Given the description of an element on the screen output the (x, y) to click on. 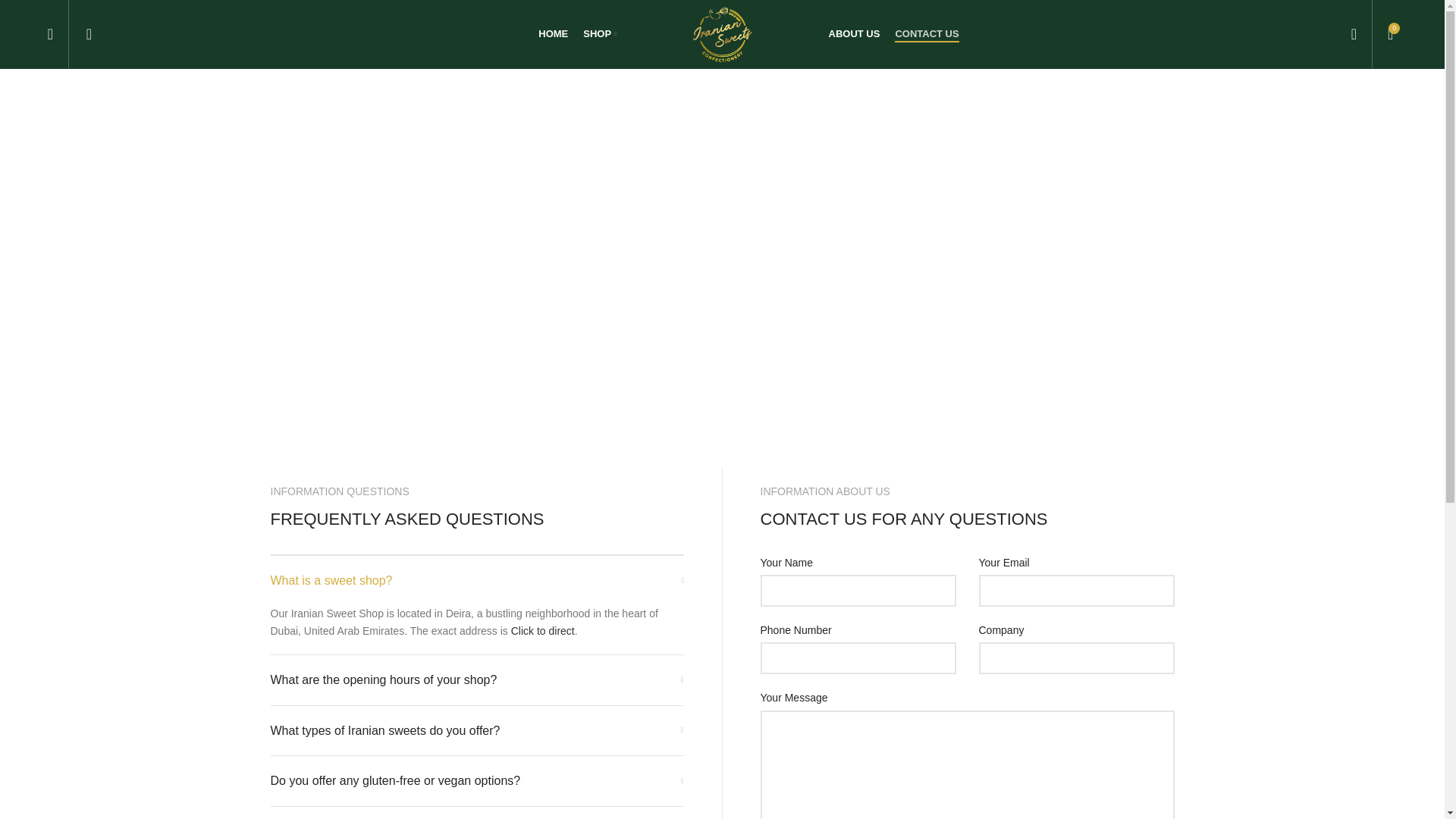
SHOP (599, 33)
HOME (552, 33)
CONTACT US (926, 33)
ABOUT US (722, 34)
Click to direct (853, 33)
